Given the description of an element on the screen output the (x, y) to click on. 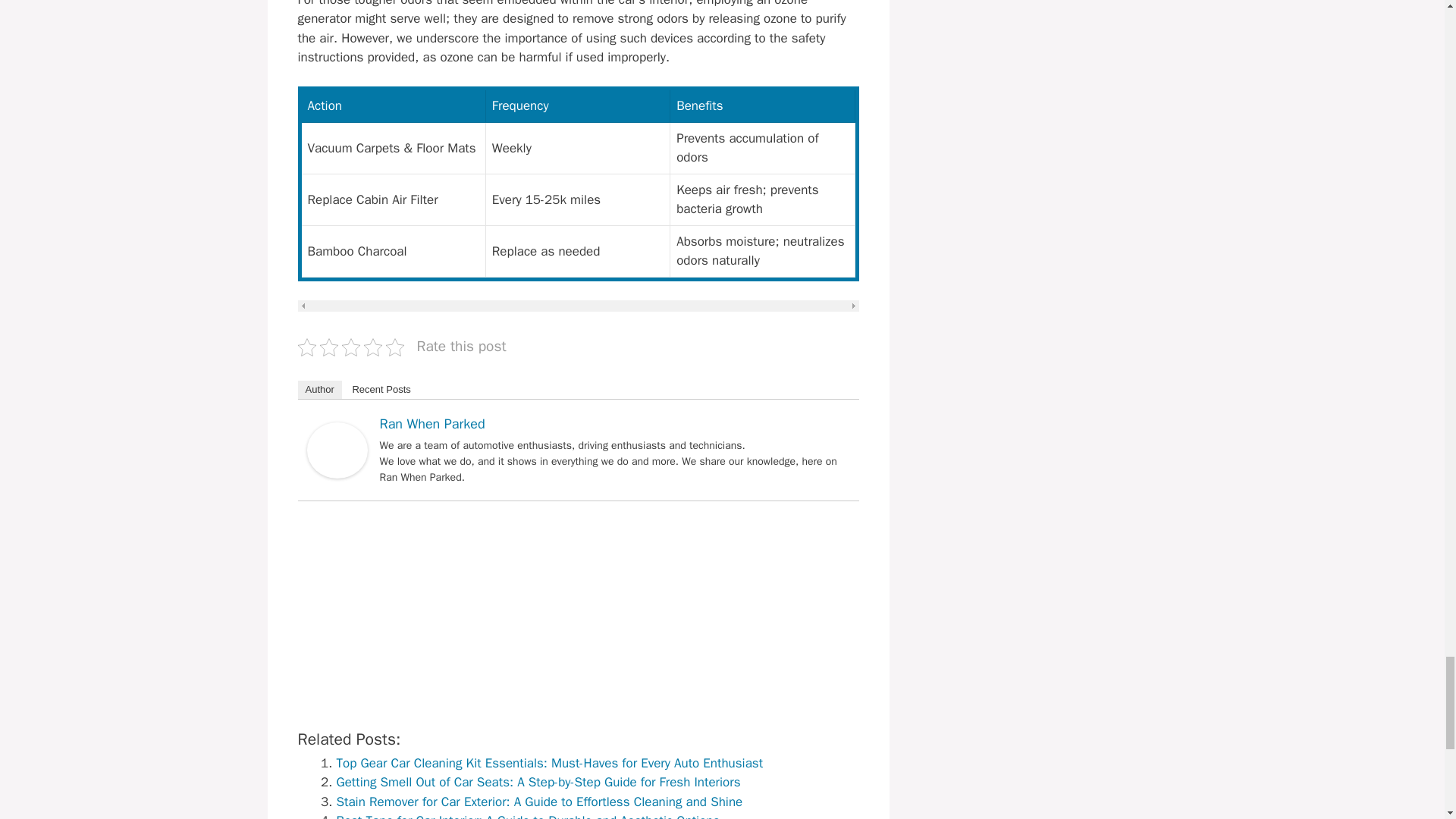
Ran When Parked (335, 474)
